Given the description of an element on the screen output the (x, y) to click on. 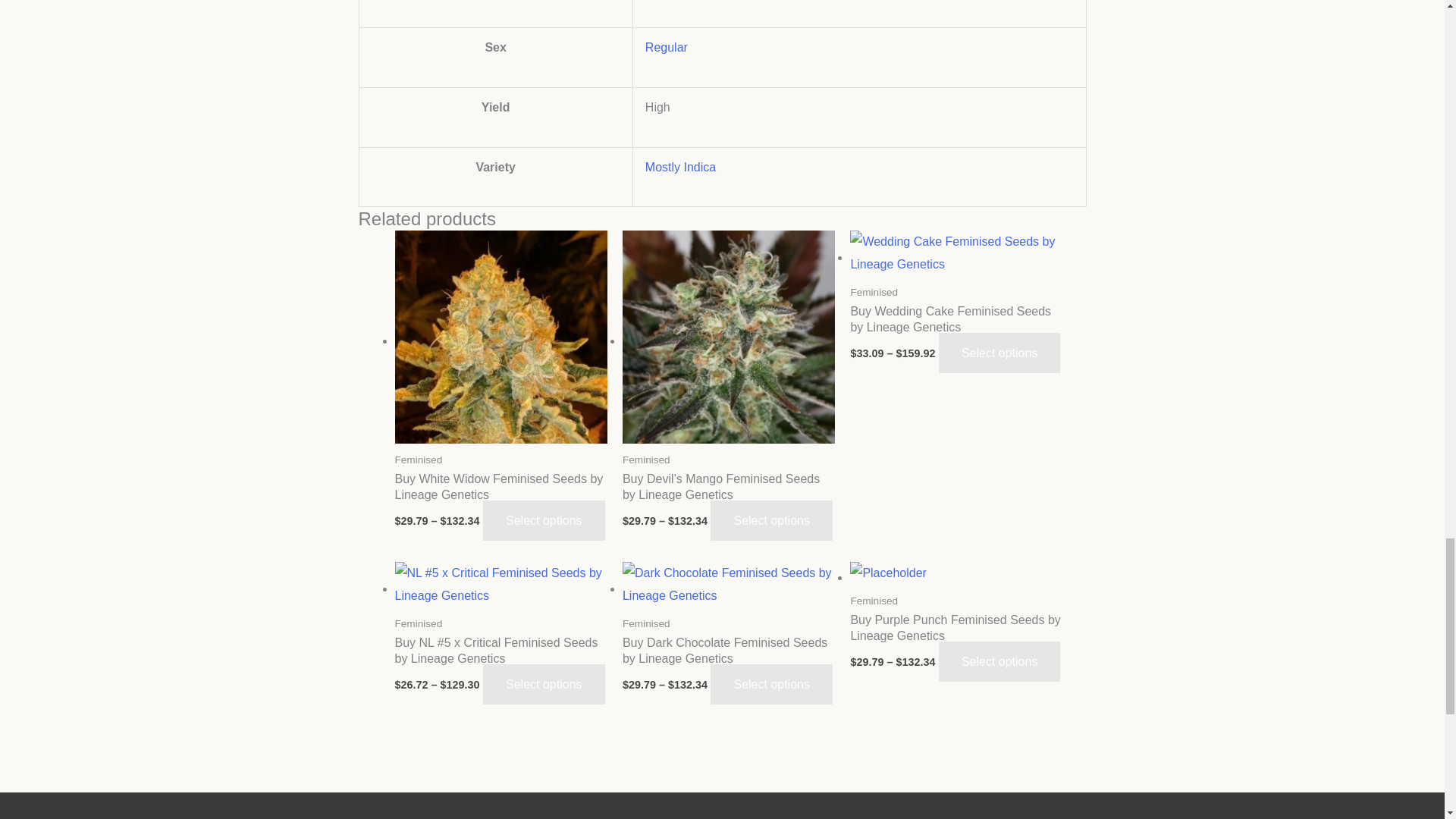
Regular (666, 47)
Mostly Indica (680, 166)
Buy White Widow Feminised Seeds by Lineage Genetics (500, 499)
Select options (544, 520)
